Given the description of an element on the screen output the (x, y) to click on. 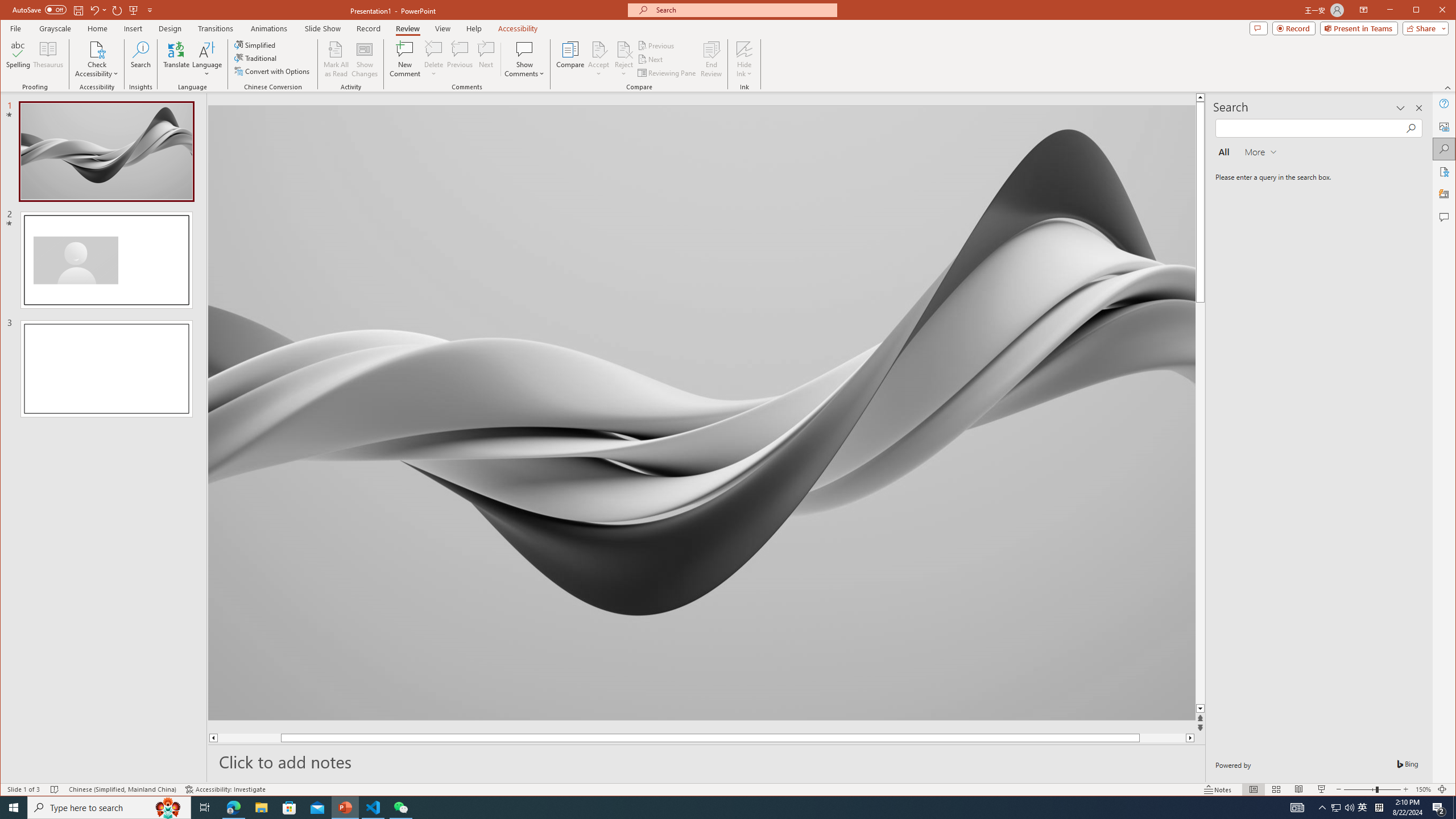
Language (207, 59)
